Given the description of an element on the screen output the (x, y) to click on. 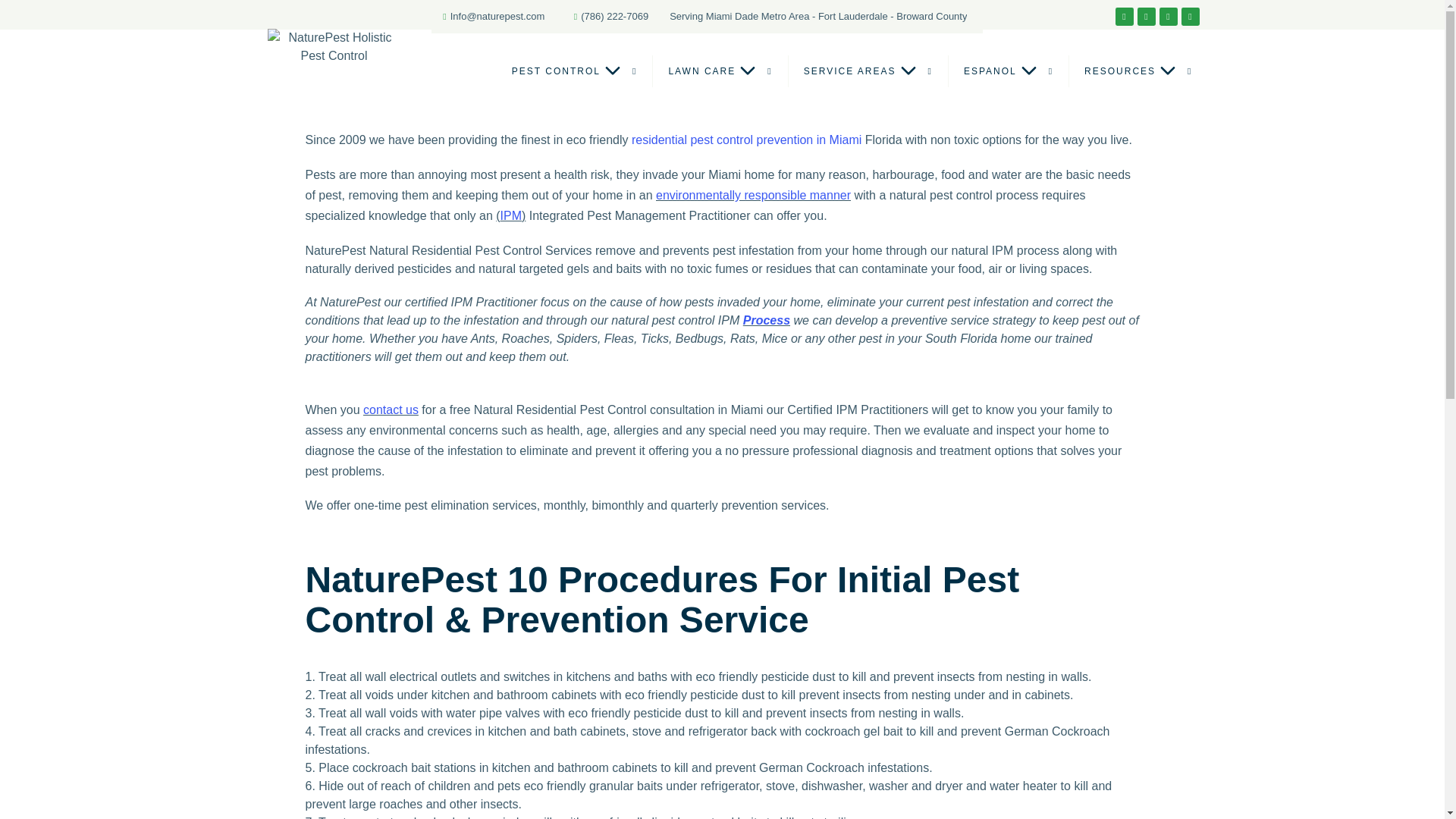
RESOURCES (1137, 71)
ESPANOL (1008, 71)
EPA IPM (510, 215)
LAWN CARE (719, 71)
The Environment  (753, 195)
Our Process (766, 319)
Contact Us (390, 409)
SERVICE AREAS (868, 71)
PEST CONTROL (574, 71)
